Given the description of an element on the screen output the (x, y) to click on. 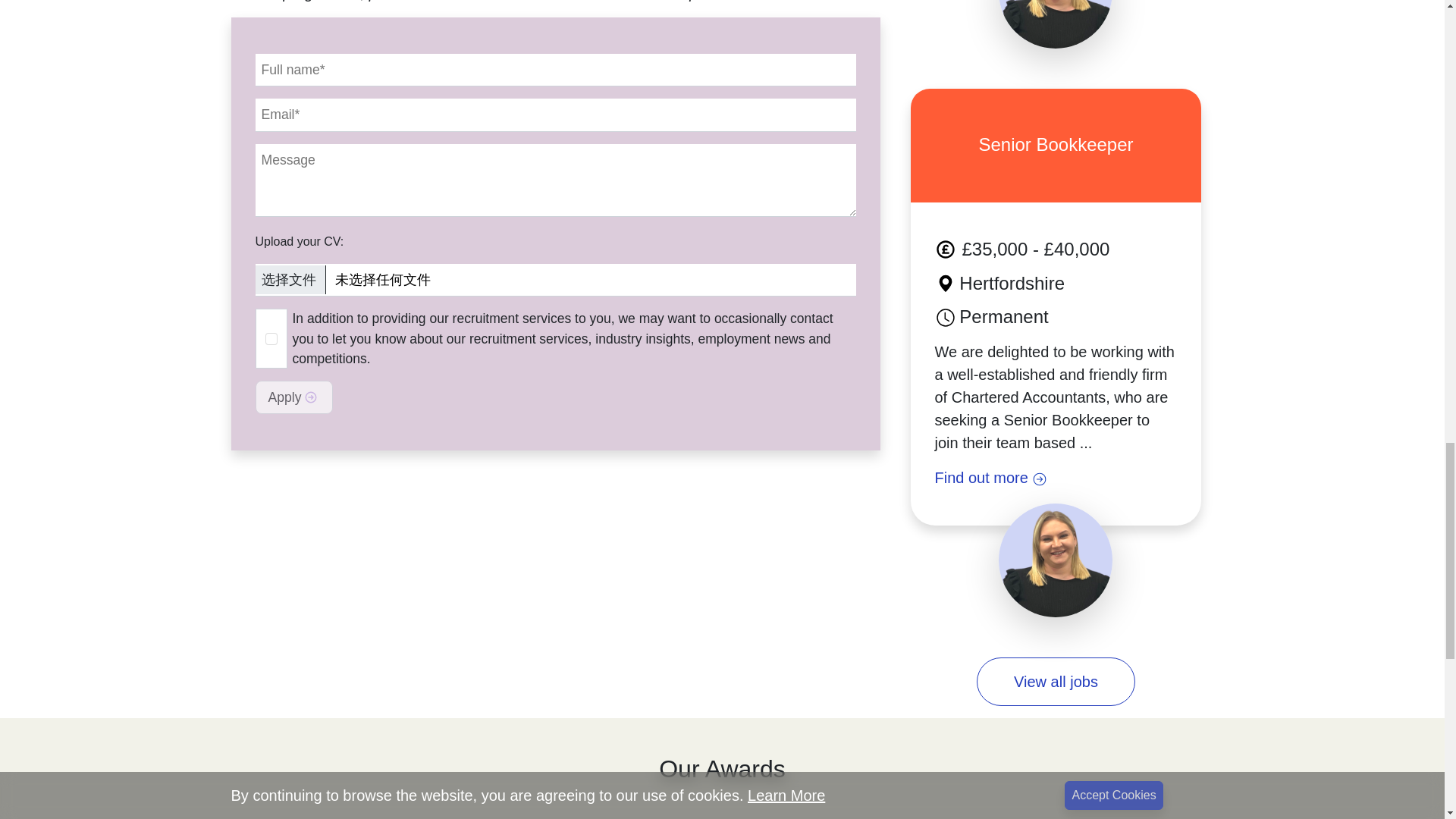
View all jobs (1055, 681)
Apply (292, 397)
Yes (271, 338)
Senior Bookkeeper (1055, 145)
Find out more (1055, 477)
